Given the description of an element on the screen output the (x, y) to click on. 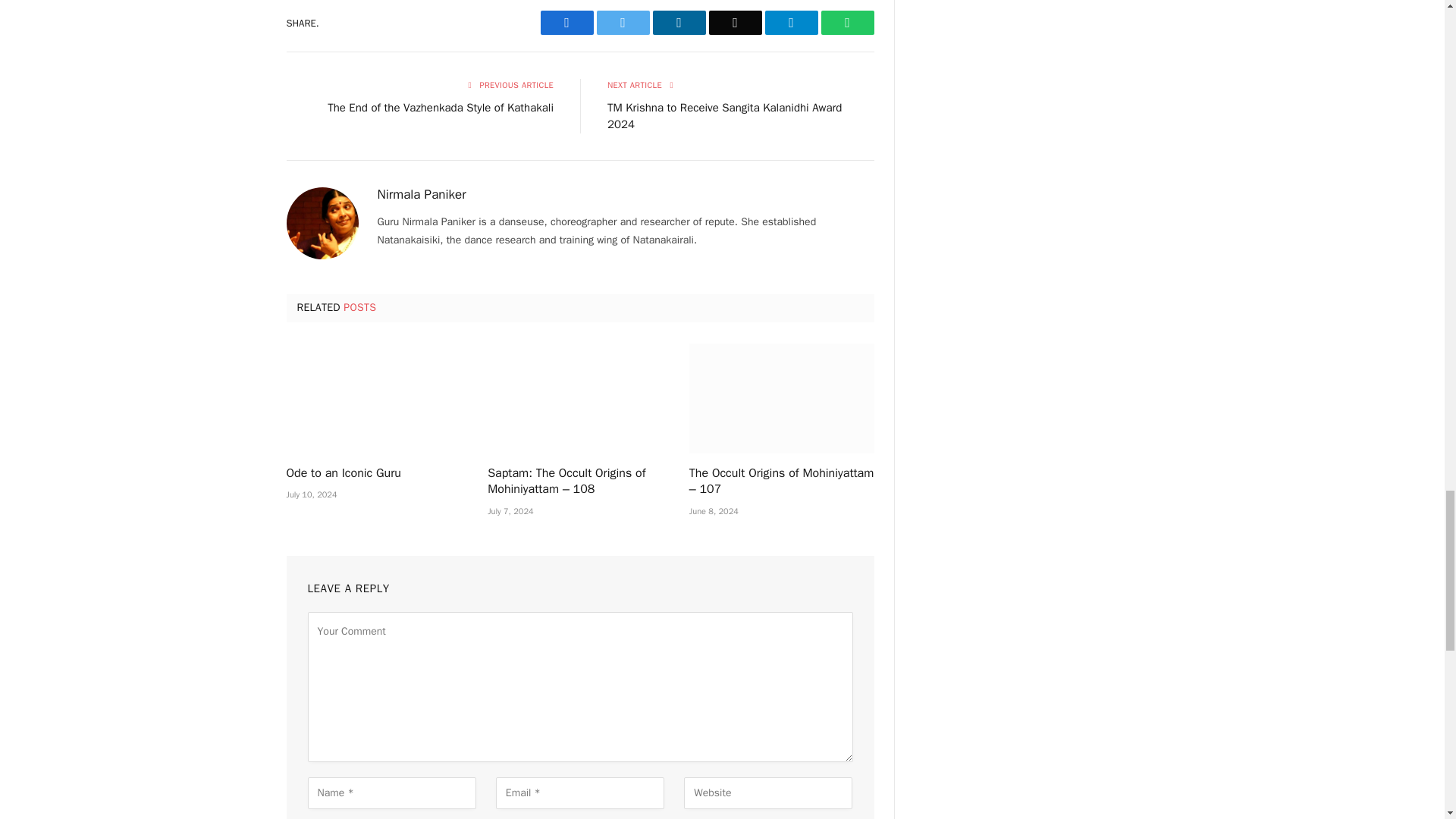
Share on Facebook (566, 22)
Share on Twitter (622, 22)
